Given the description of an element on the screen output the (x, y) to click on. 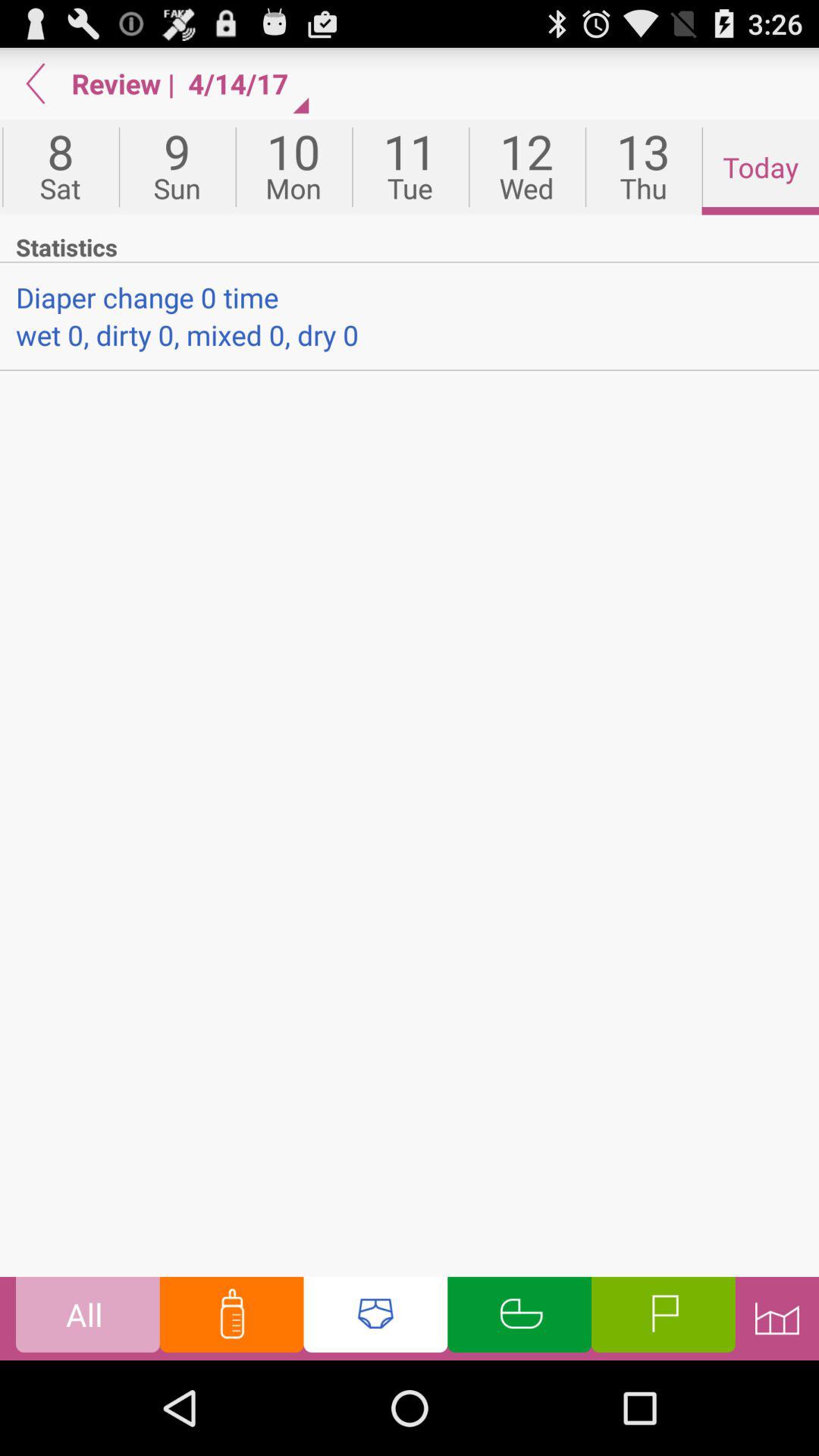
select abba (375, 1318)
